Given the description of an element on the screen output the (x, y) to click on. 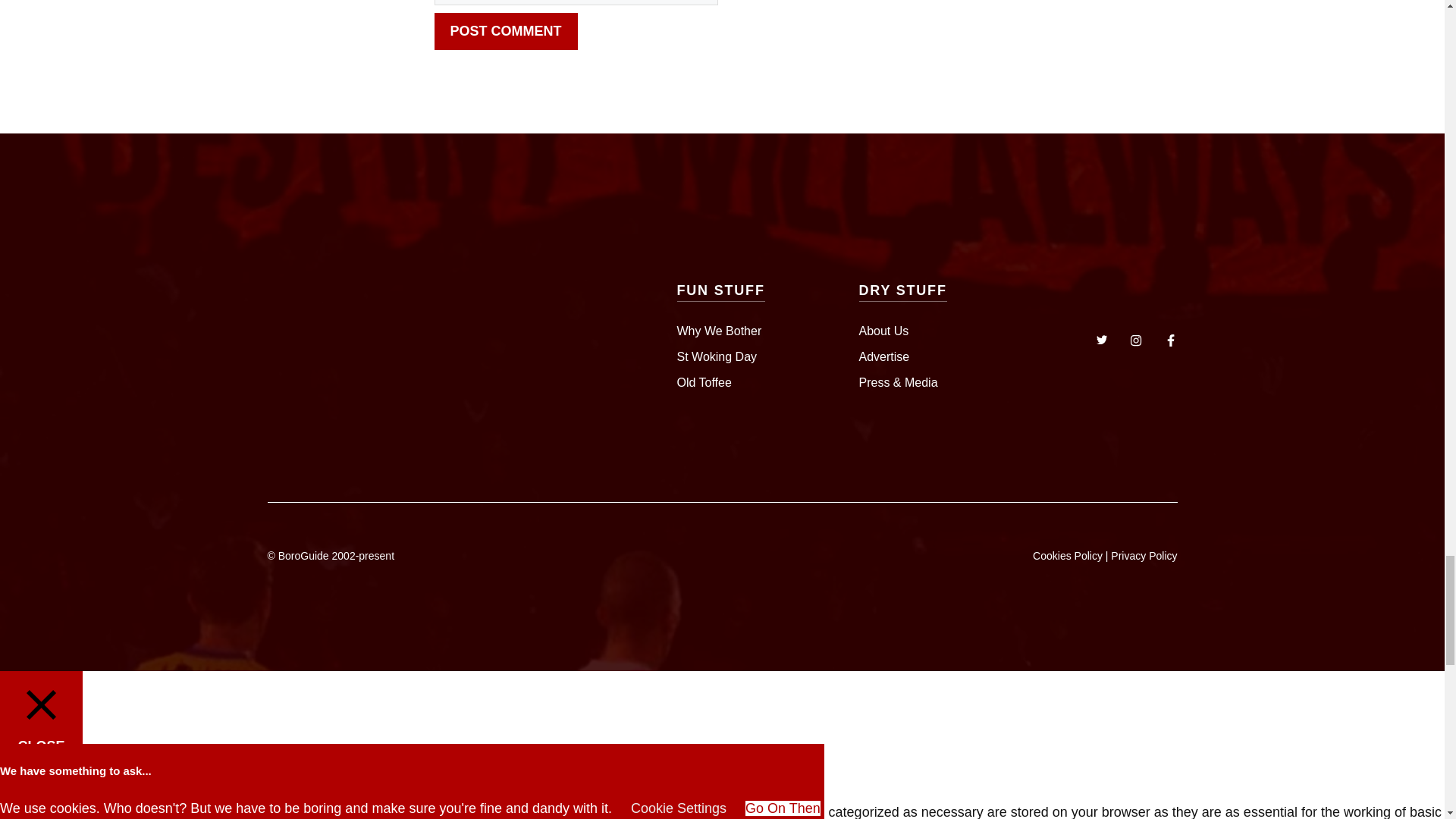
Post Comment (504, 31)
